Given the description of an element on the screen output the (x, y) to click on. 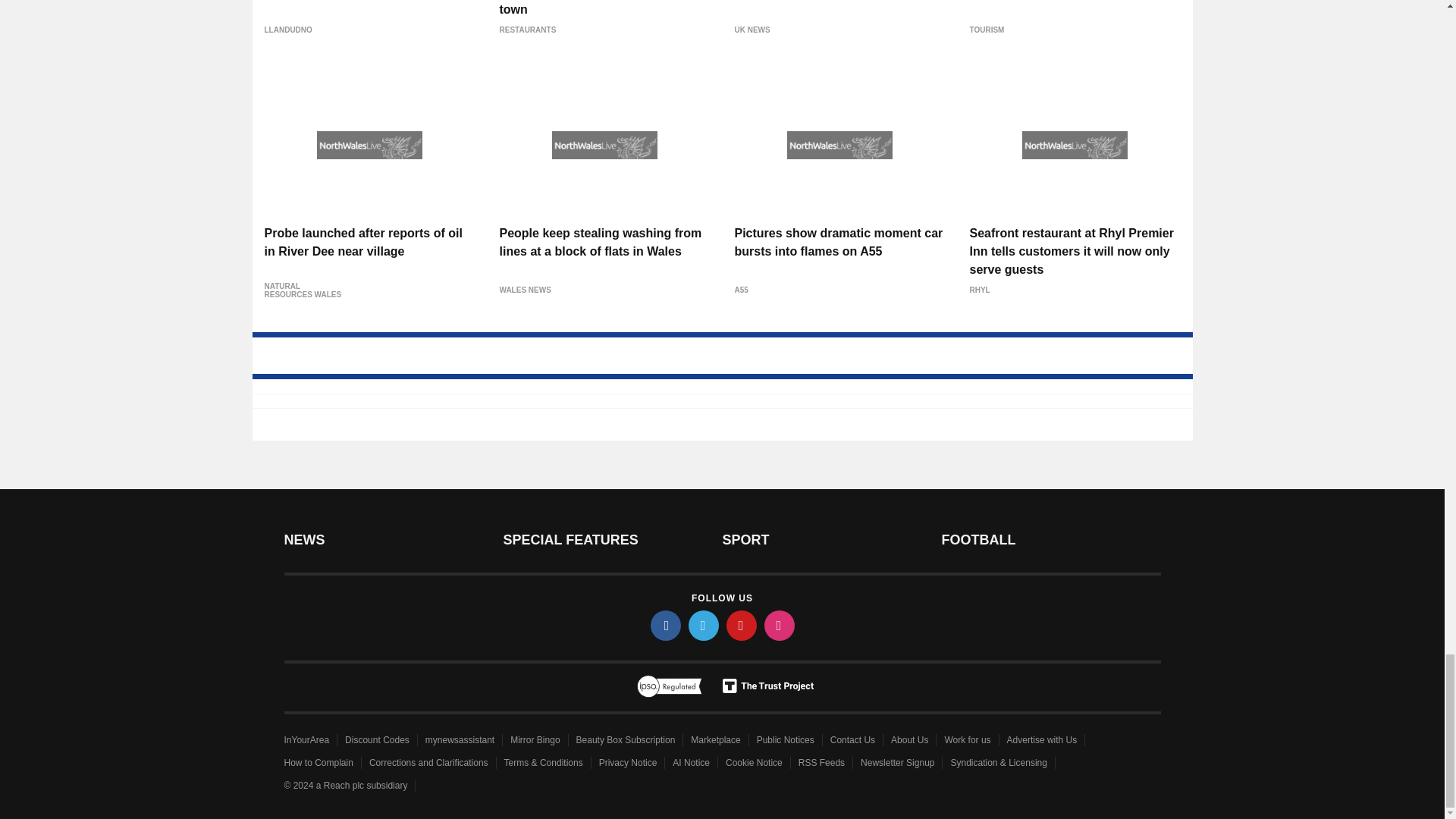
twitter (703, 625)
instagram (779, 625)
pinterest (741, 625)
facebook (665, 625)
